Given the description of an element on the screen output the (x, y) to click on. 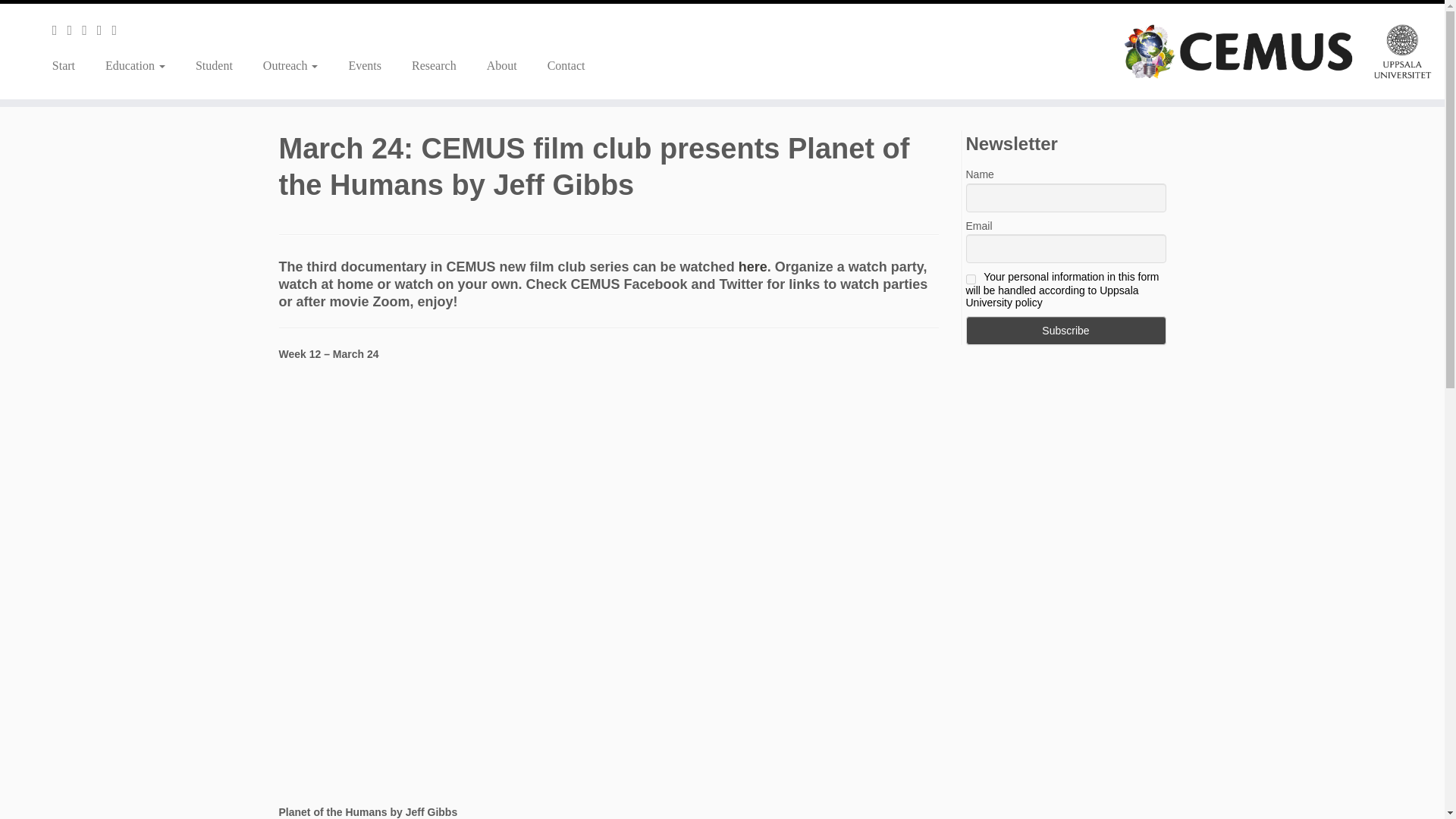
Education (135, 65)
Outreach (290, 65)
Student (213, 65)
on (970, 279)
Follow us on Instagram (89, 29)
Follow us on Linkedin (104, 29)
Start (69, 65)
Subscribe (1066, 330)
